Given the description of an element on the screen output the (x, y) to click on. 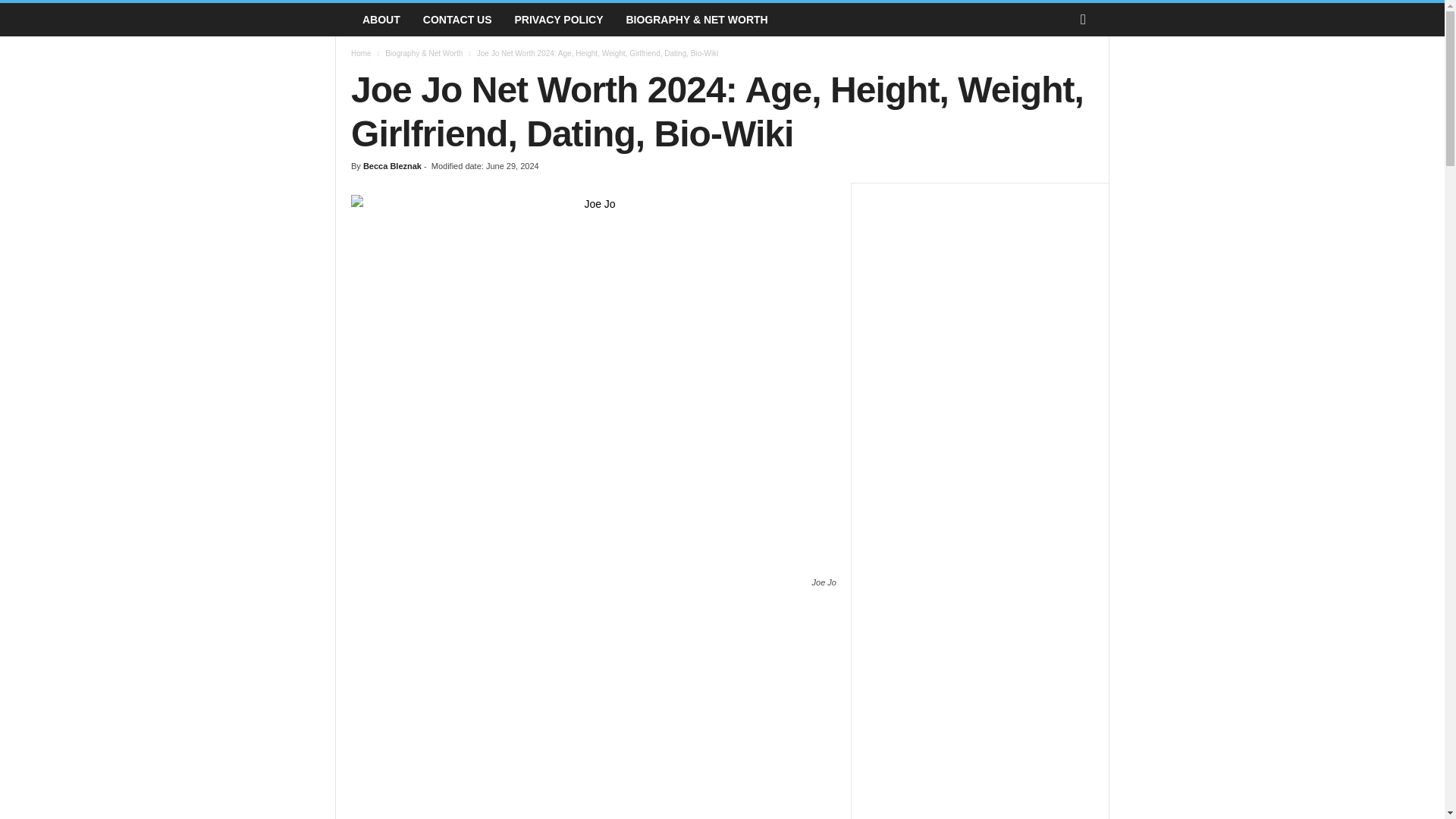
Home (360, 53)
Becca Bleznak (392, 165)
PRIVACY POLICY (558, 19)
Wealthy Persons (342, 19)
ABOUT (381, 19)
CONTACT US (457, 19)
